Given the description of an element on the screen output the (x, y) to click on. 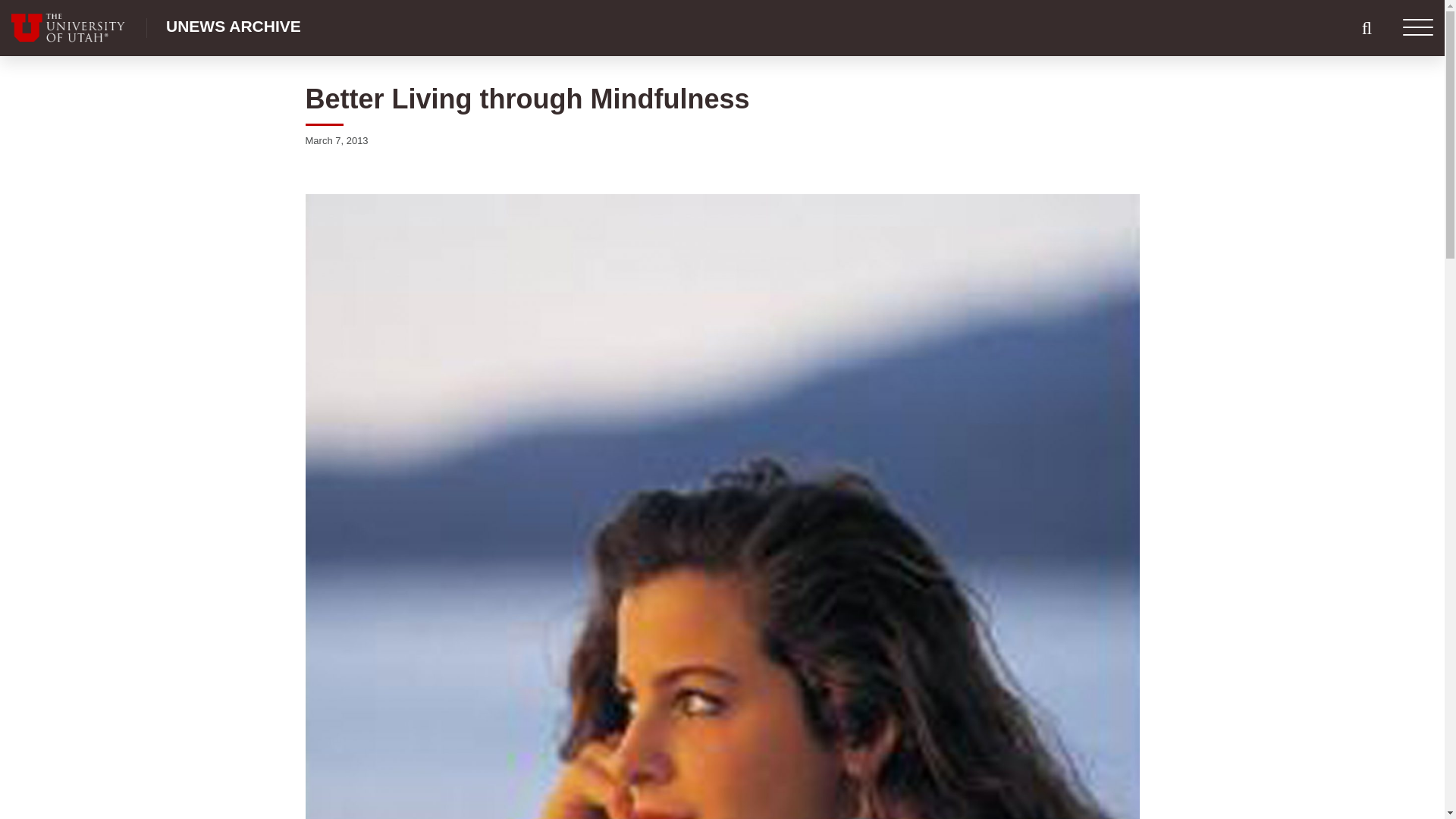
UNEWS ARCHIVE (233, 26)
